Given the description of an element on the screen output the (x, y) to click on. 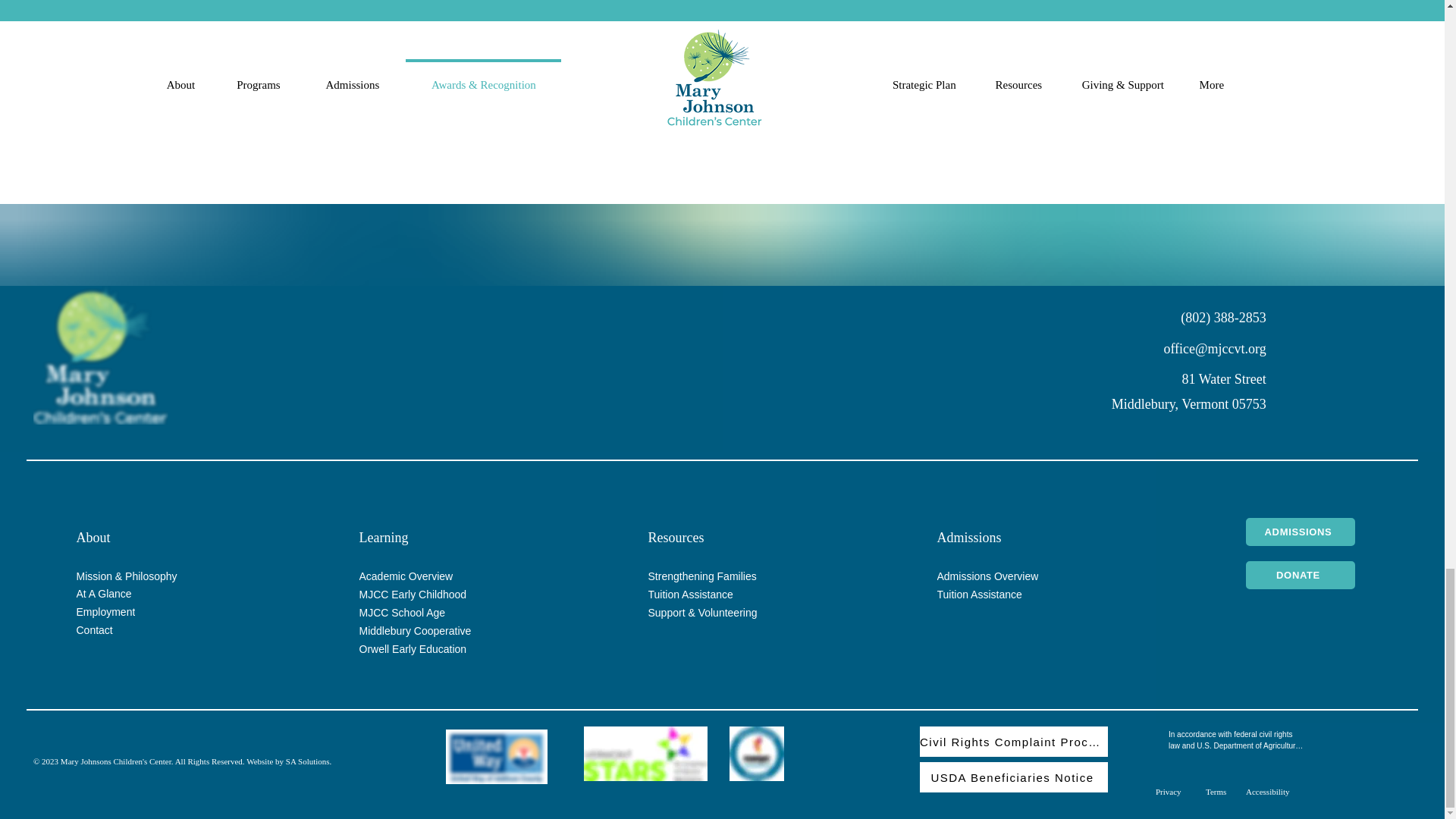
Strengthening Families (718, 576)
DONATE (1299, 574)
MJCC School Age (430, 612)
SA Solutions (307, 760)
MJCC Early Childhood (430, 594)
At A Glance (146, 593)
Orwell Early Education (430, 648)
Academic Overview (430, 576)
Employment (146, 611)
Admissions Overview (1008, 576)
Tuition Assistance (718, 594)
Tuition Assistance (1008, 594)
Civil Rights Complaint Procedure (1014, 741)
naeyc seal 2.png (756, 753)
Middlebury Cooperative (430, 630)
